Given the description of an element on the screen output the (x, y) to click on. 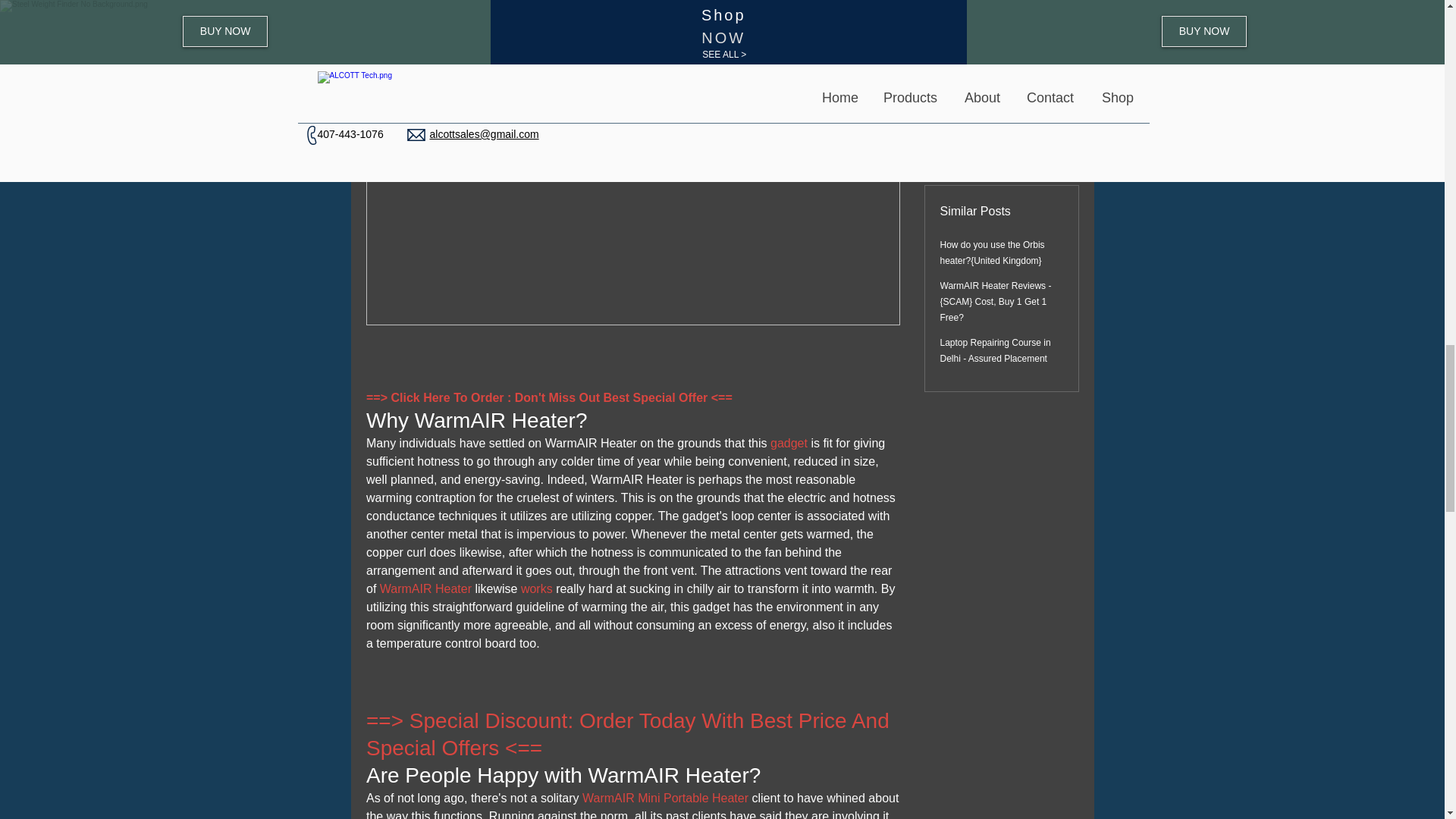
gadget  (790, 442)
WarmAIR Heater (424, 588)
works  (536, 588)
WarmAIR Mini Portable Heater (665, 797)
